Given the description of an element on the screen output the (x, y) to click on. 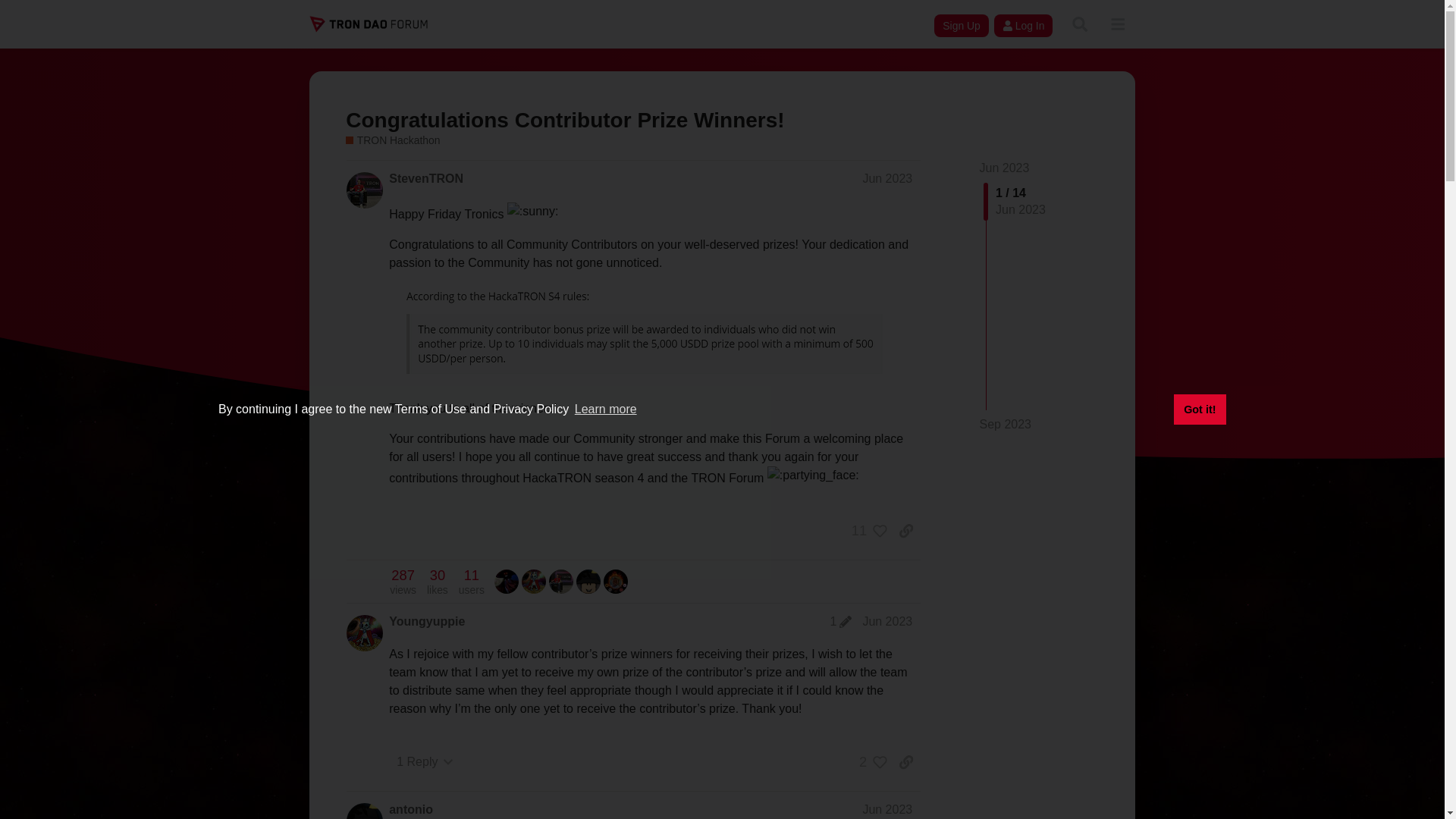
Sep 2023 (1005, 424)
Jun 2023 (886, 620)
TRON Hackathon (392, 140)
Jump to the first post (1004, 167)
StevenTRON (425, 178)
Search (1079, 23)
1 (471, 581)
Jun 2023 (840, 621)
Learn more (1004, 167)
